Given the description of an element on the screen output the (x, y) to click on. 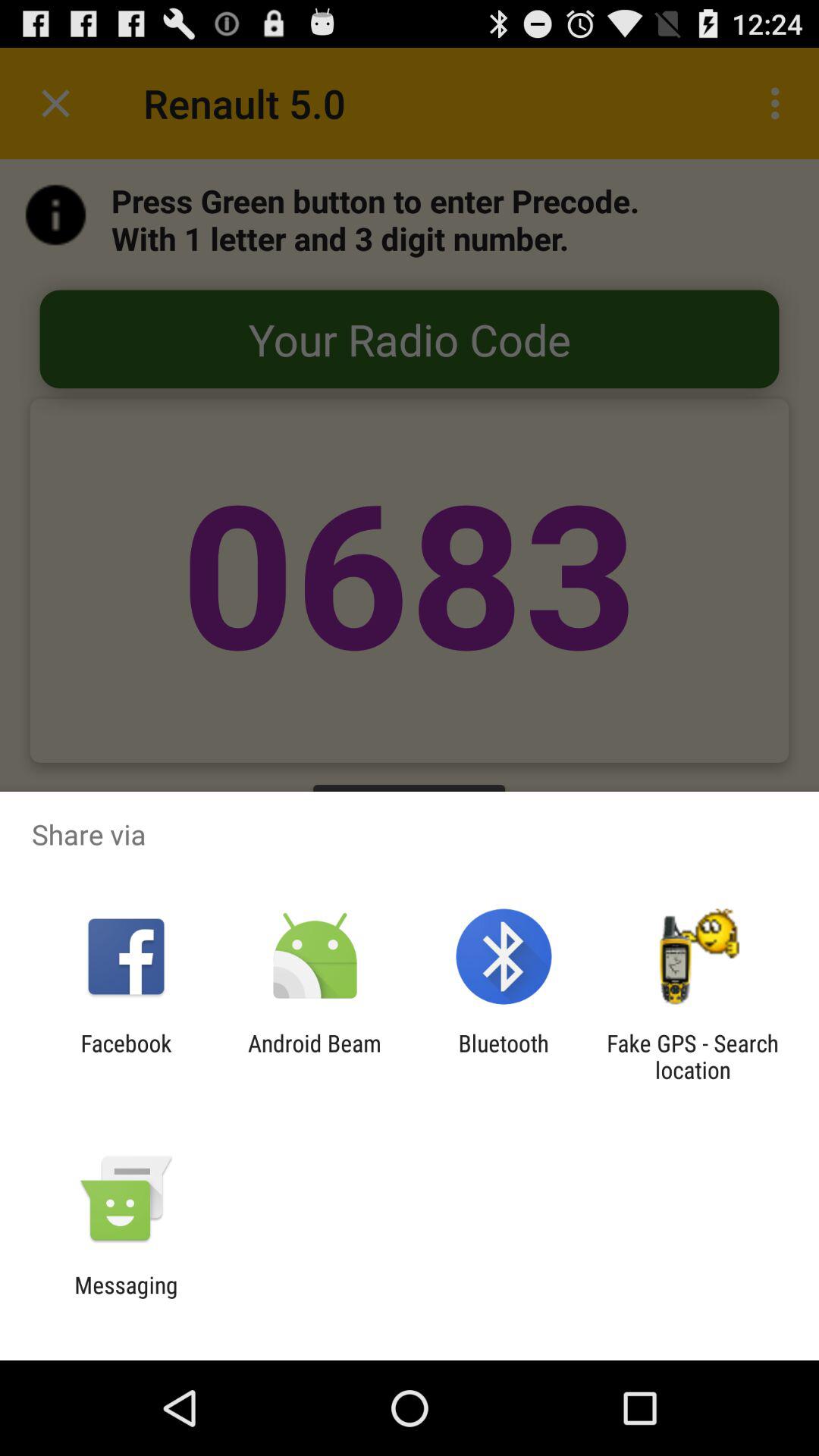
press item next to the fake gps search app (503, 1056)
